Given the description of an element on the screen output the (x, y) to click on. 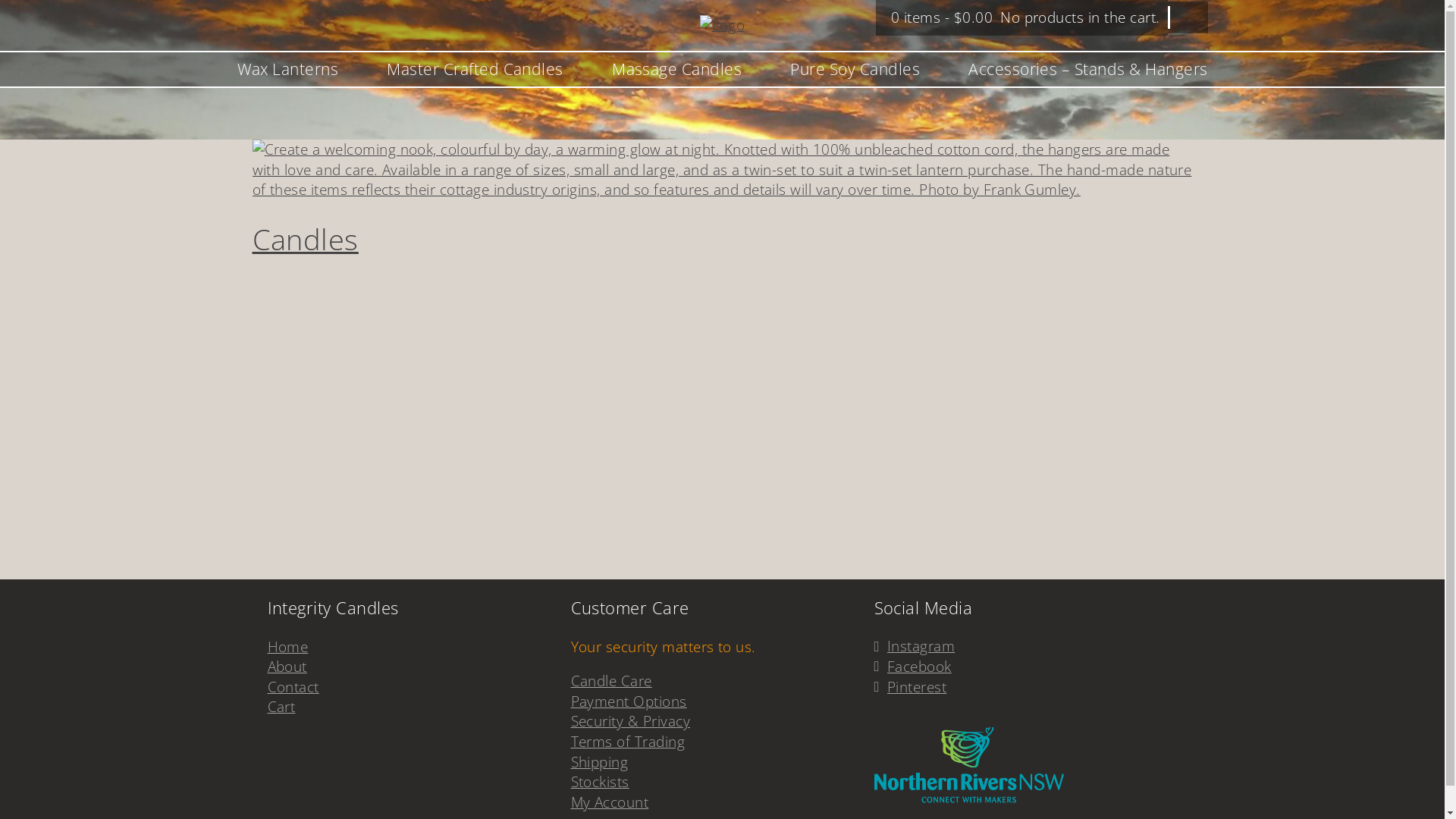
Pinterest Element type: text (916, 687)
Master Crafted Candles Element type: text (474, 69)
0 items - $0.00 Element type: text (941, 17)
Payment Options Element type: text (628, 701)
Wax Lanterns Element type: text (287, 69)
Contact Element type: text (292, 686)
Candle Care Element type: text (610, 680)
My Account Element type: text (609, 802)
Shipping Element type: text (598, 761)
Cart Element type: text (280, 706)
Massage Candles Element type: text (676, 69)
Candles Element type: text (304, 238)
Security & Privacy Element type: text (630, 721)
Home Element type: text (286, 646)
Instagram Element type: text (920, 646)
Terms of Trading Element type: text (627, 741)
Pure Soy Candles Element type: text (854, 69)
Facebook Element type: text (919, 666)
Stockists Element type: text (599, 781)
Candles Element type: hover (721, 189)
About Element type: text (286, 666)
